Given the description of an element on the screen output the (x, y) to click on. 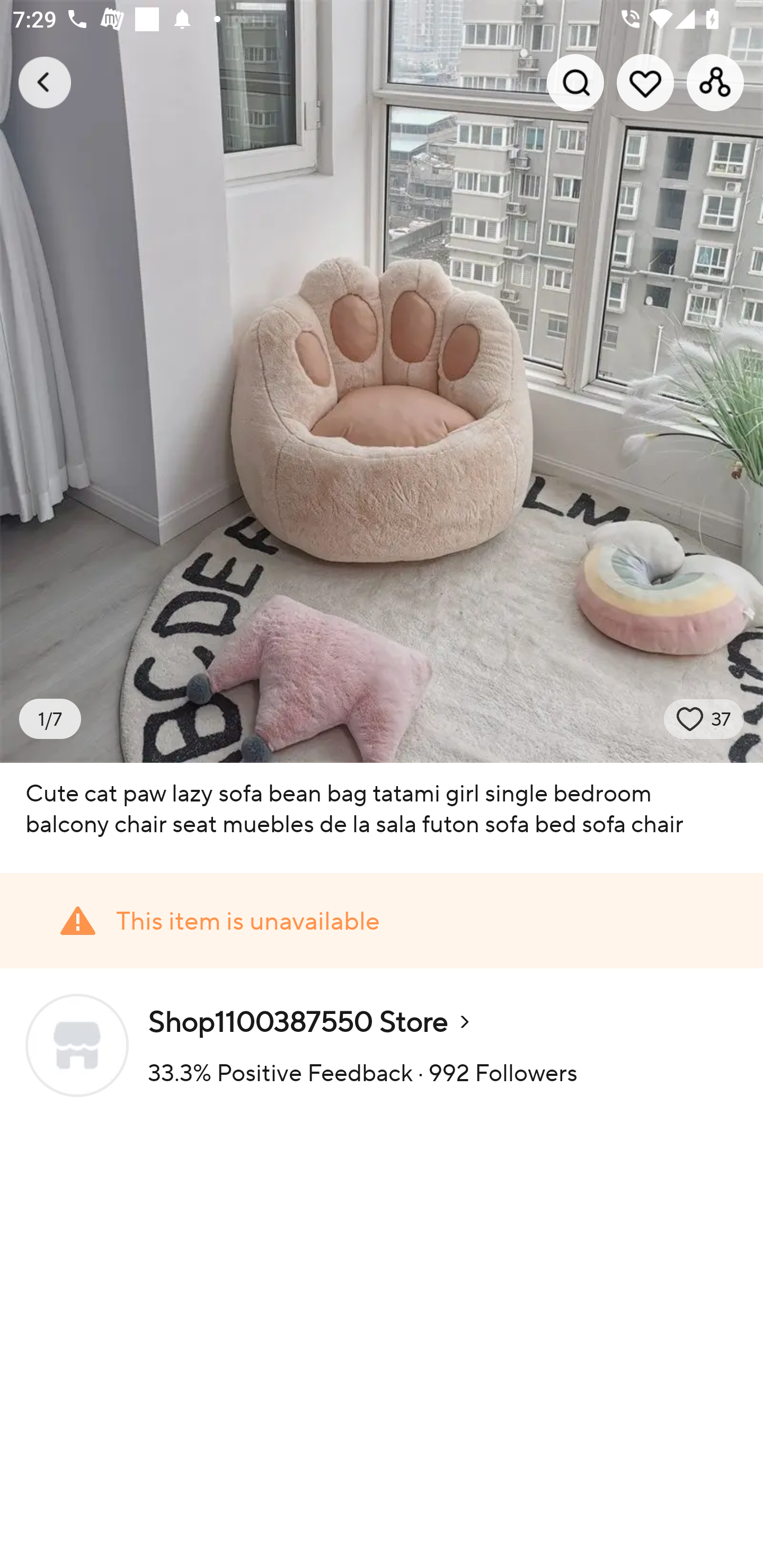
Navigate up (44, 82)
wish state 37 (703, 718)
